Given the description of an element on the screen output the (x, y) to click on. 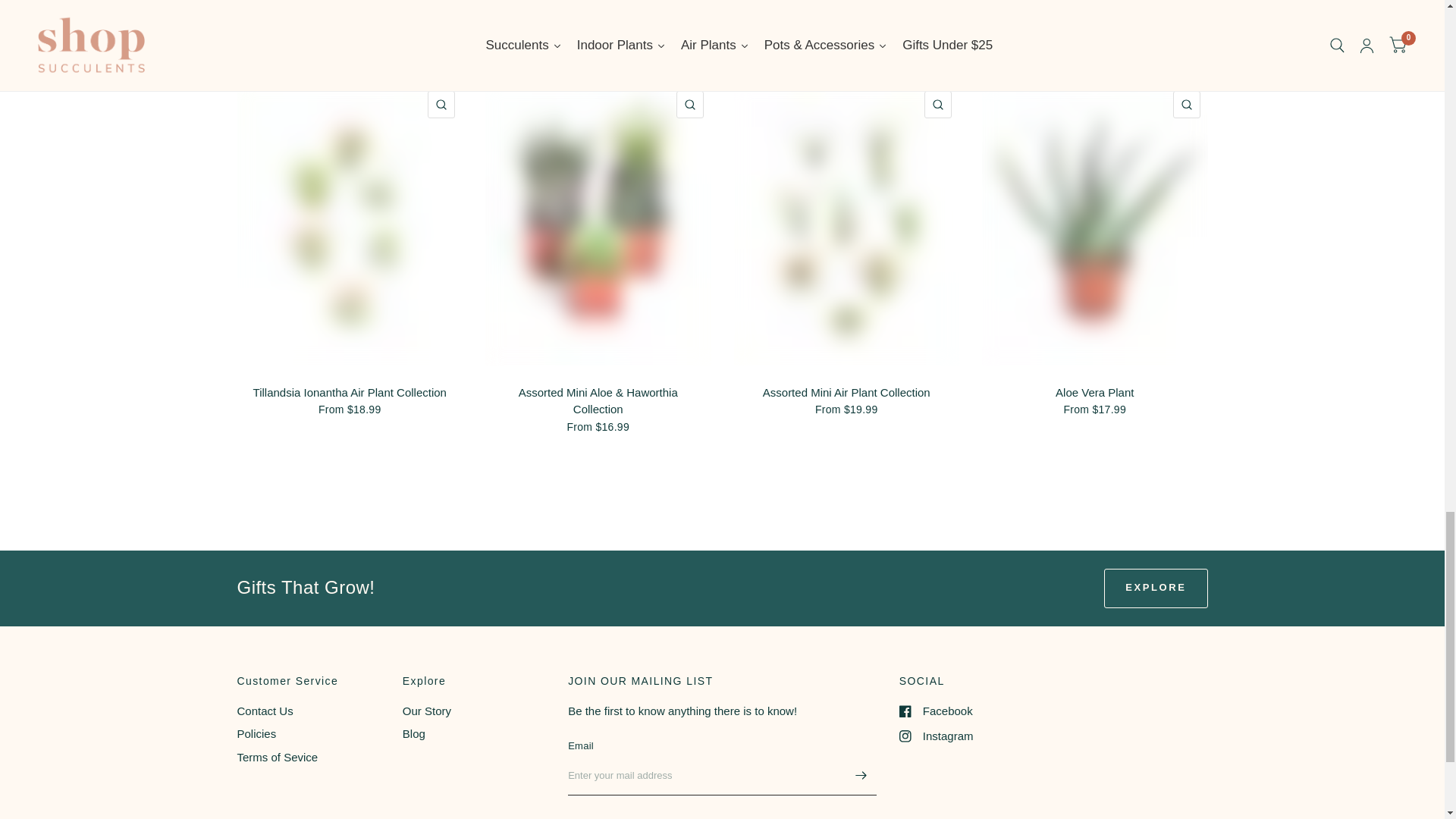
Tillandsia Ionantha Air Plant Collection (349, 393)
Assorted Mini Air Plant Collection (845, 393)
Tillandsia Ionantha Air Plant Collection (349, 393)
